Given the description of an element on the screen output the (x, y) to click on. 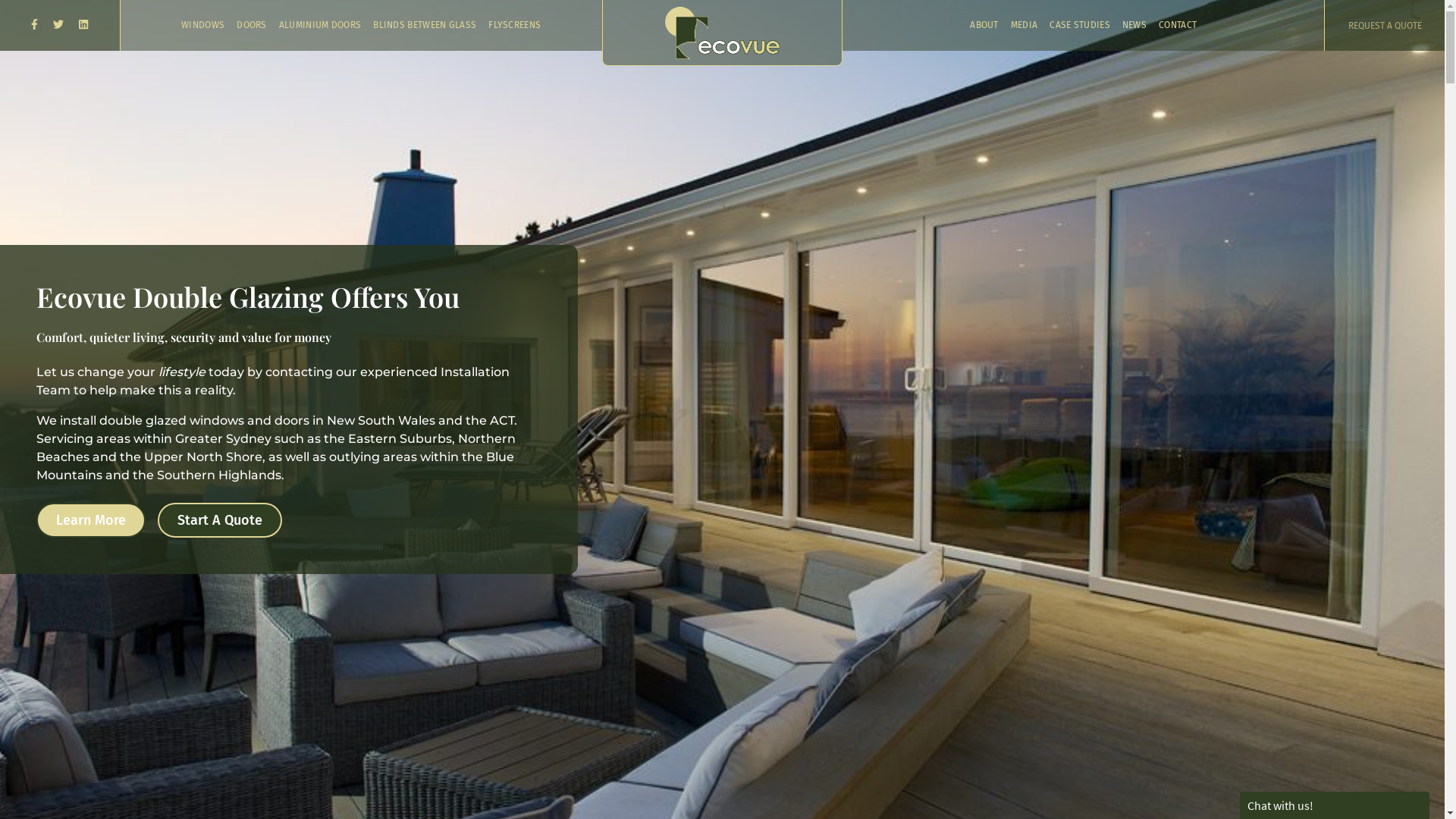
BLINDS BETWEEN GLASS Element type: text (424, 24)
Start A Quote Element type: text (219, 519)
ABOUT Element type: text (983, 24)
FLYSCREENS Element type: text (514, 24)
Learn More Element type: text (90, 519)
NEWS Element type: text (1134, 24)
ALUMINIUM DOORS Element type: text (320, 24)
DOORS Element type: text (251, 24)
WINDOWS Element type: text (202, 24)
CONTACT Element type: text (1177, 24)
CASE STUDIES Element type: text (1079, 24)
REQUEST A QUOTE Element type: text (1384, 25)
MEDIA Element type: text (1024, 24)
